Given the description of an element on the screen output the (x, y) to click on. 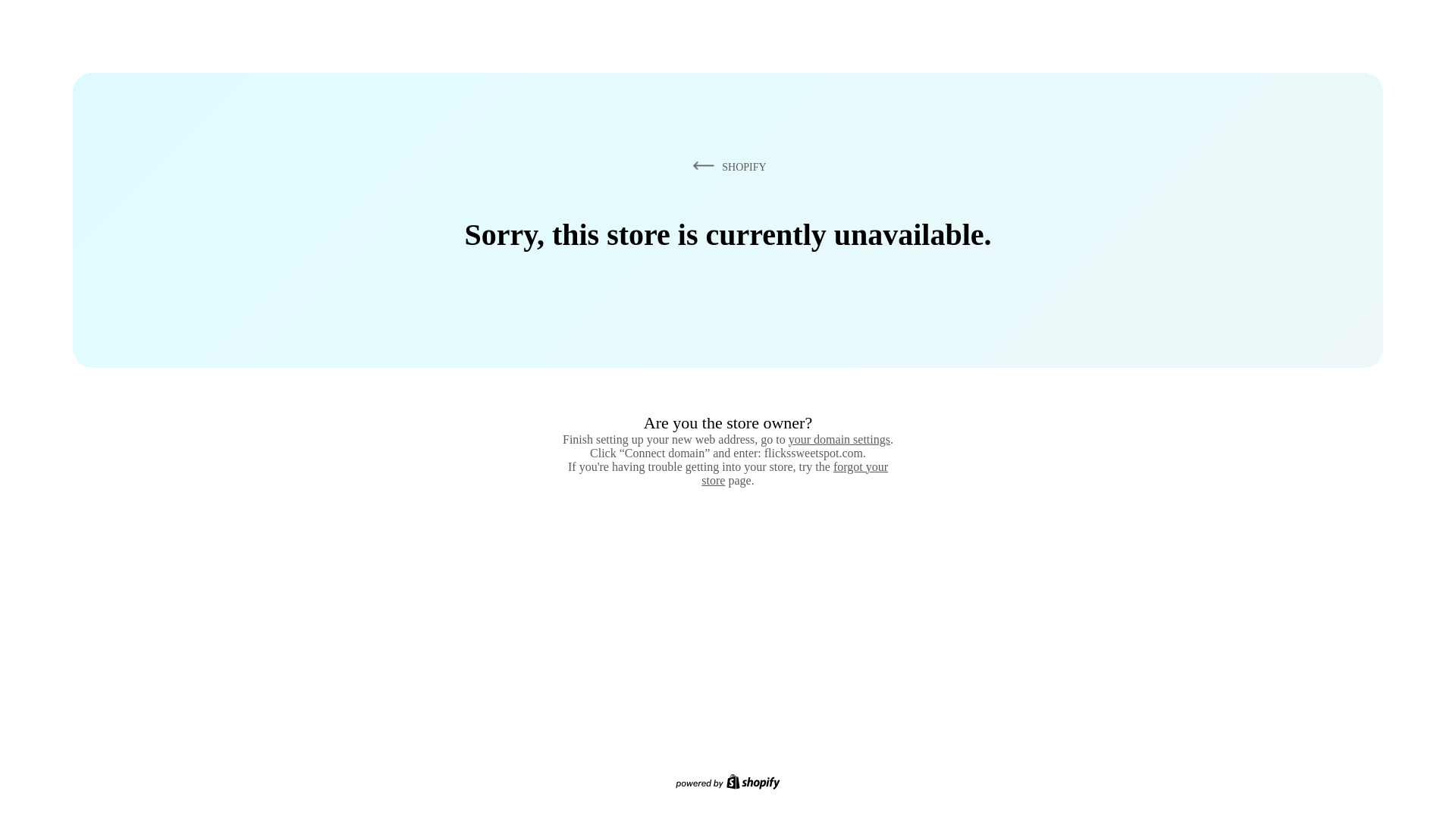
SHOPIFY (726, 166)
forgot your store (794, 473)
your domain settings (839, 439)
